Given the description of an element on the screen output the (x, y) to click on. 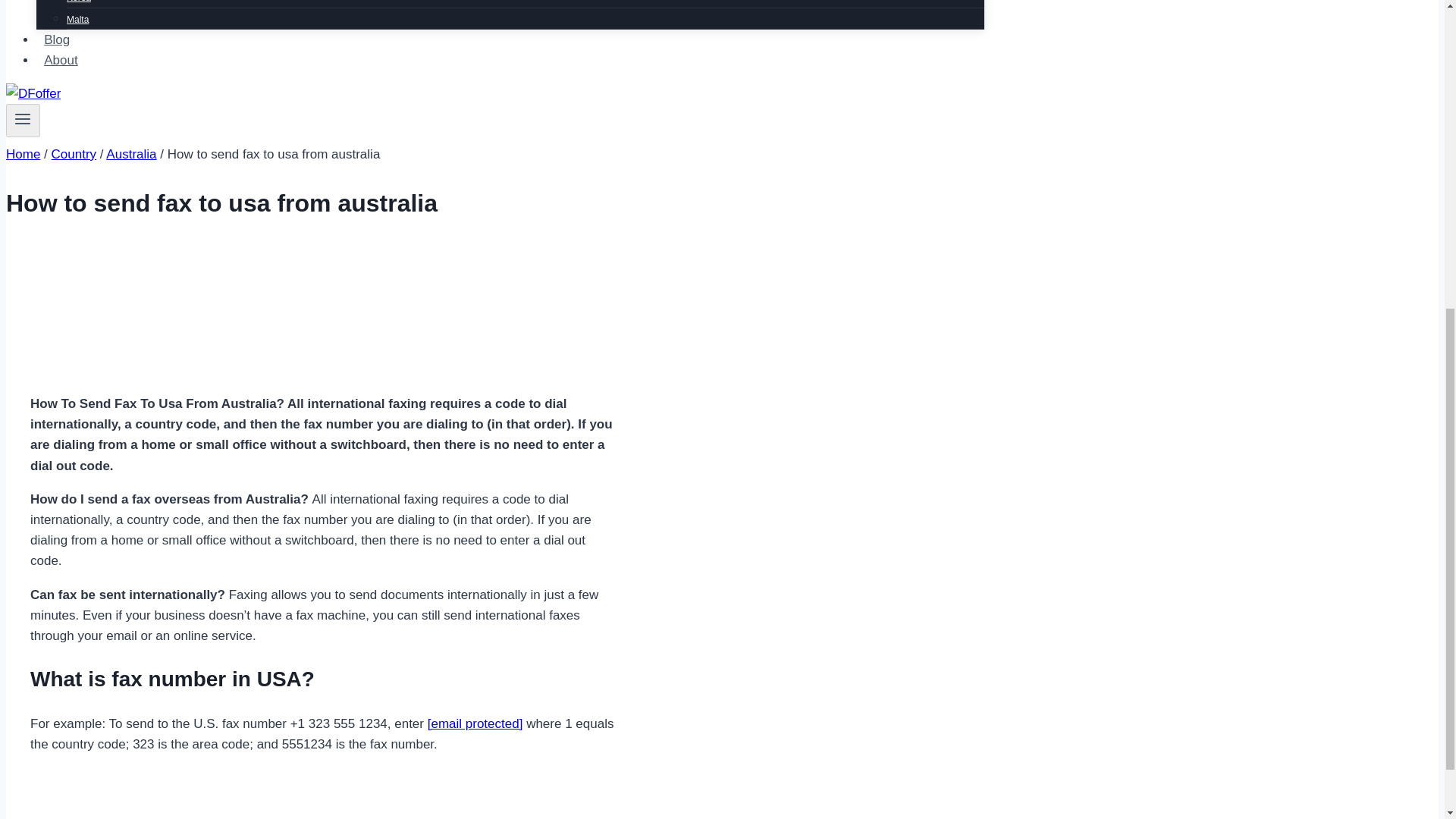
Toggle Menu (22, 118)
Country (73, 154)
Blog (56, 39)
About (60, 60)
Australia (130, 154)
Korea (78, 6)
Home (22, 154)
Toggle Menu (22, 120)
